Given the description of an element on the screen output the (x, y) to click on. 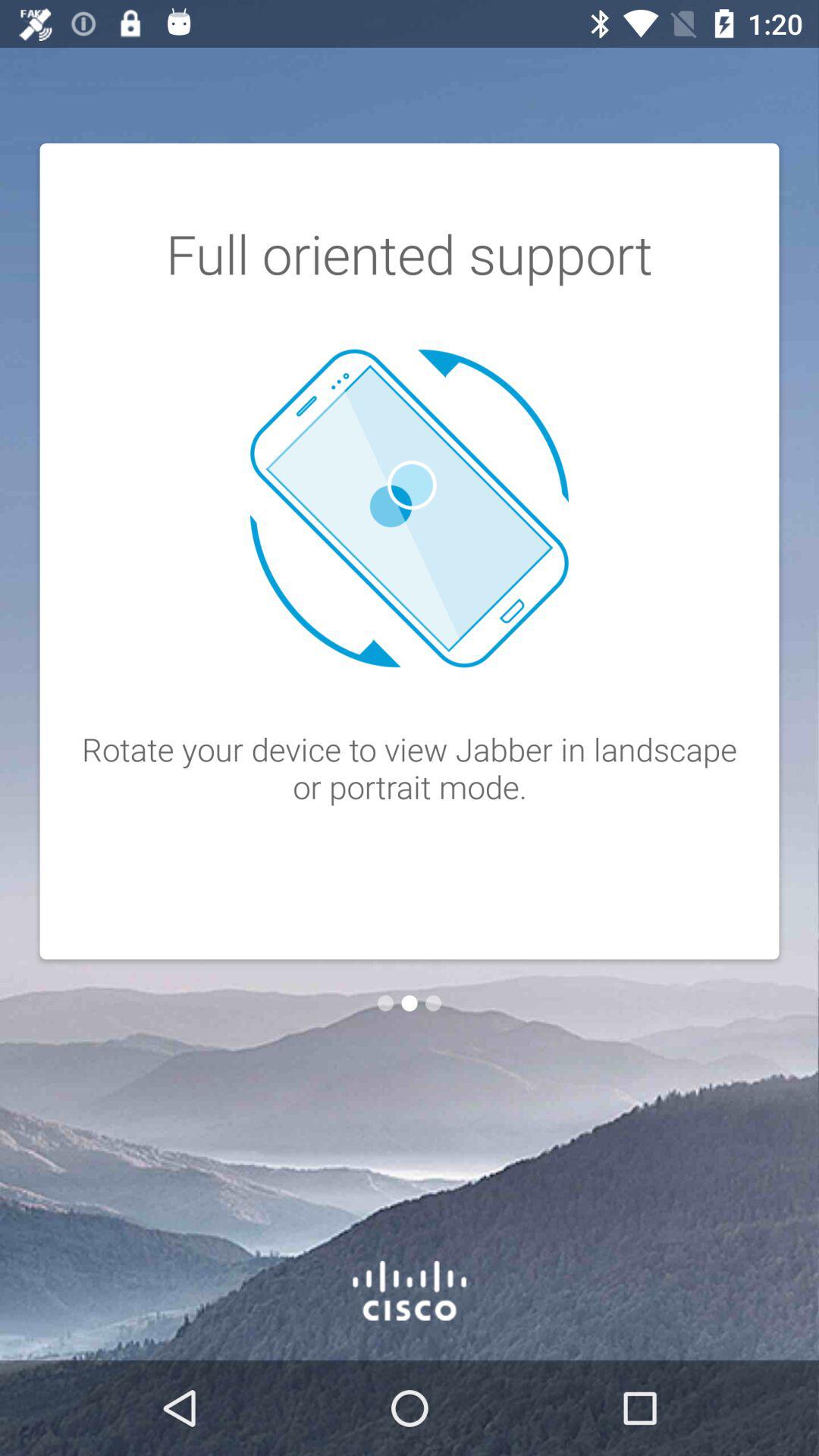
select item below the rotate your device (433, 1003)
